Given the description of an element on the screen output the (x, y) to click on. 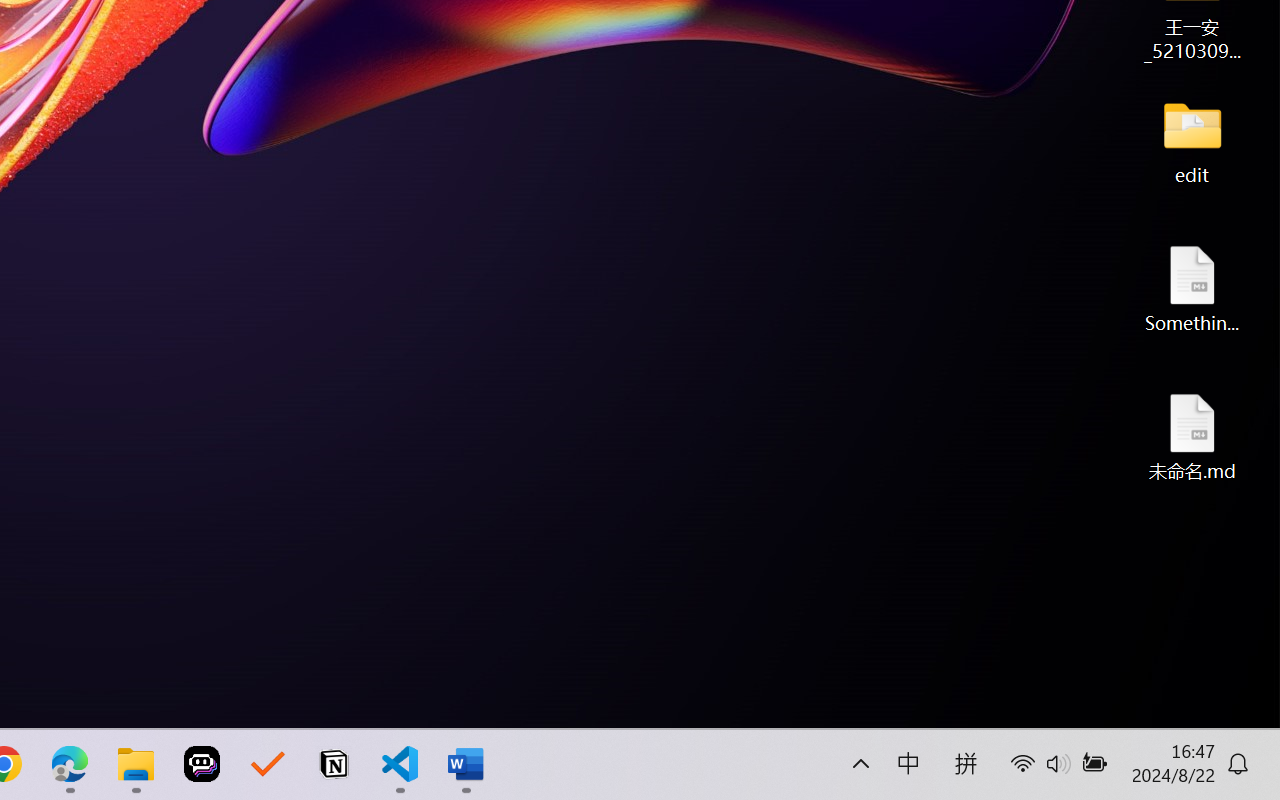
edit (1192, 140)
